Given the description of an element on the screen output the (x, y) to click on. 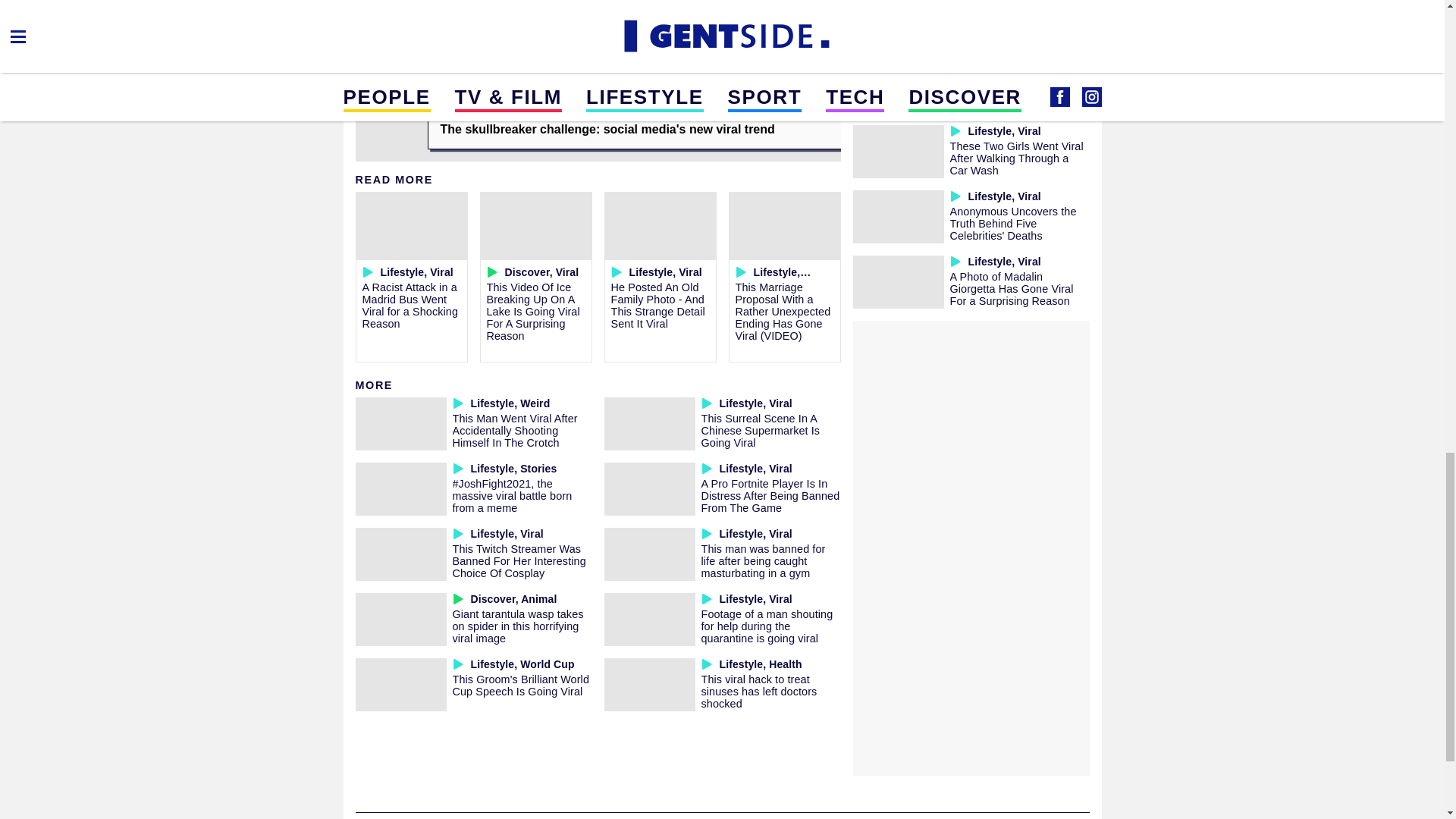
Man riding a whale shark goes viral (1010, 21)
This Surreal Scene In A Chinese Supermarket Is Going Viral (759, 430)
The skullbreaker challenge: social media's new viral trend (634, 129)
Anonymous Uncovers the Truth Behind Five Celebrities' Deaths (1012, 223)
TikTok struggles to take down shocking viral suicide video (1016, 93)
This viral hack to treat sinuses has left doctors shocked (758, 691)
These Two Girls Went Viral After Walking Through a Car Wash (1016, 158)
